Given the description of an element on the screen output the (x, y) to click on. 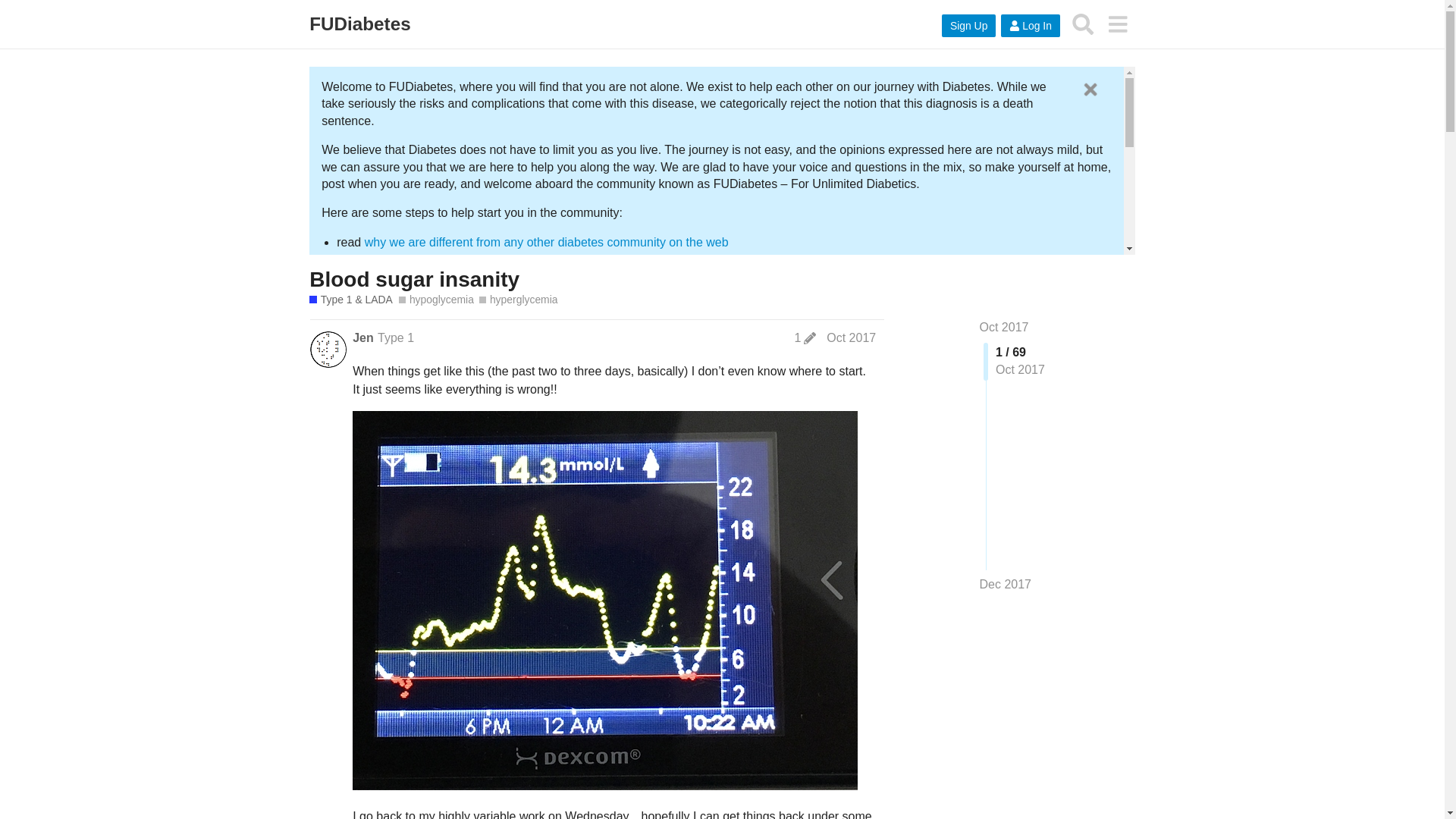
Oct 2017 (851, 337)
Dec 2017 (1005, 584)
Jen (363, 338)
diabetes acronyms (475, 375)
Log In (1030, 25)
a glossary of terms for diabetes (825, 375)
menu (1117, 23)
Jump to the first post (1004, 327)
here (727, 317)
hypoglycemia (436, 299)
some of the myths surrounding diabetes (580, 420)
FUDiabetes (359, 23)
helpful books (493, 450)
hyperglycemia (518, 299)
